Given the description of an element on the screen output the (x, y) to click on. 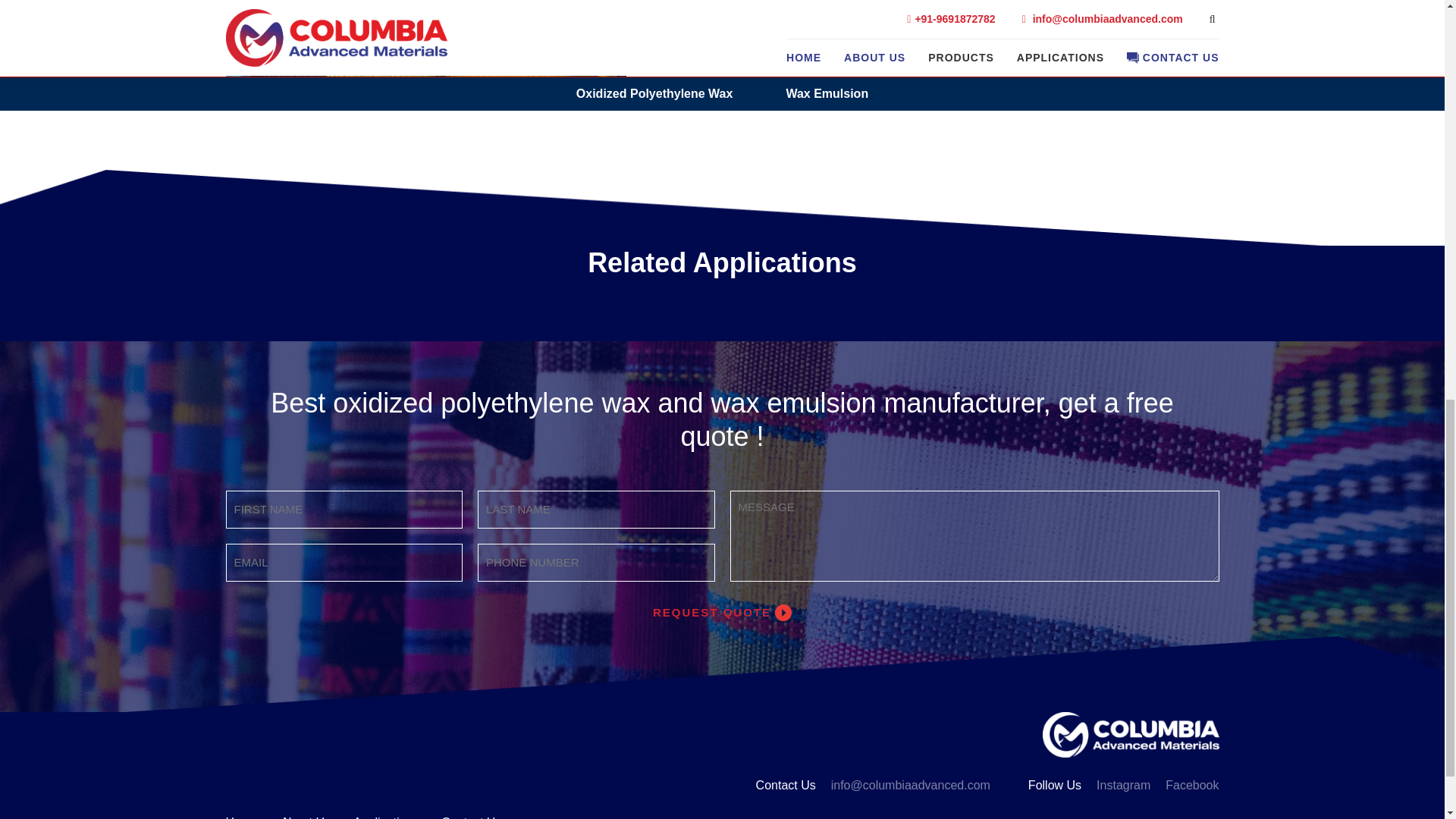
REQUEST QUOTE (722, 612)
Facebook (1192, 785)
Instagram (1123, 785)
